Given the description of an element on the screen output the (x, y) to click on. 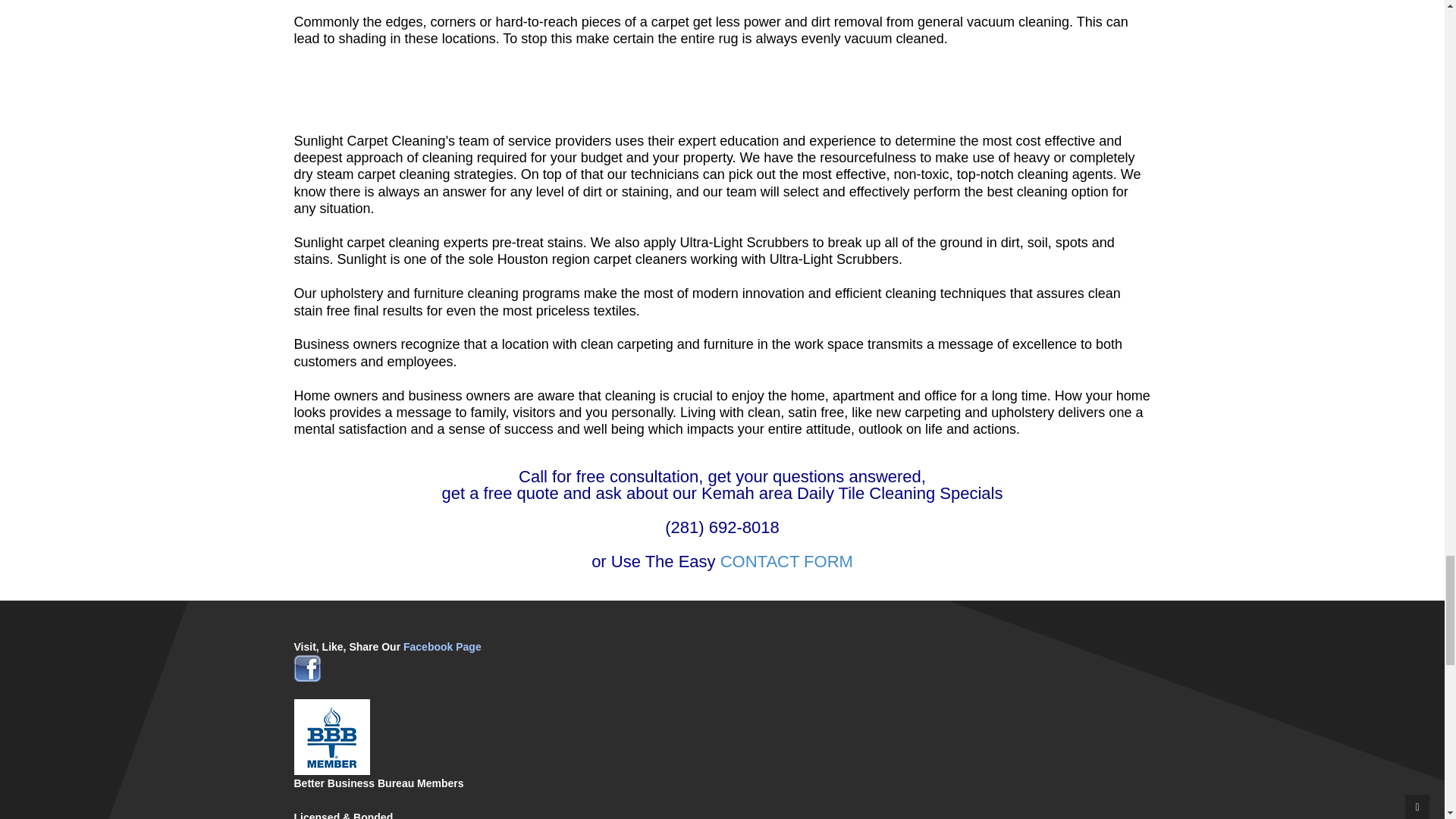
CONTACT FORM (786, 561)
Facebook Page (442, 646)
